Given the description of an element on the screen output the (x, y) to click on. 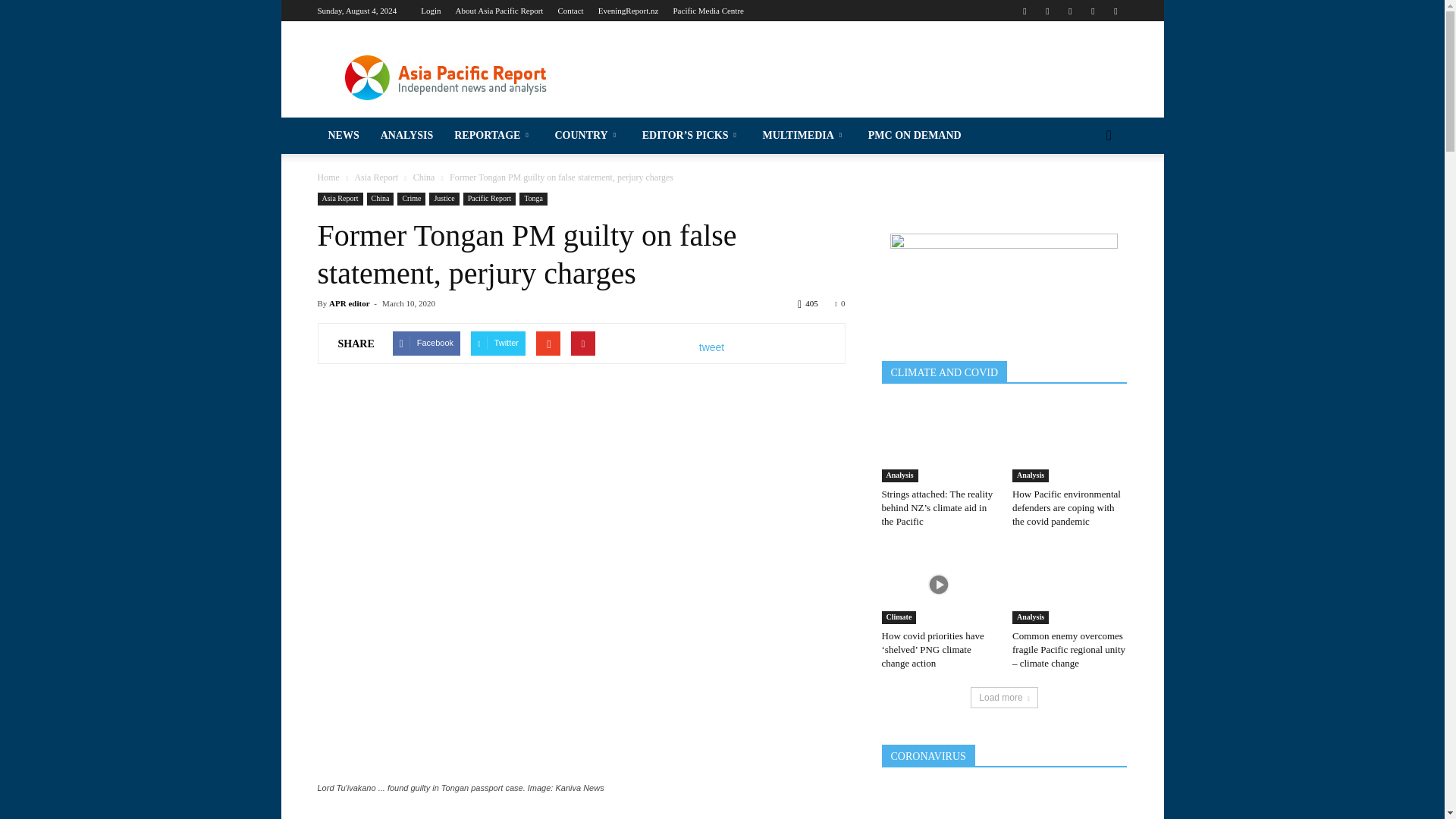
APJS newsfile (140, 215)
Climate (140, 244)
Australia (140, 335)
CLOSE (140, 20)
NEWS (140, 57)
Pacific Report (140, 157)
Federated States of Micronesia (140, 393)
Nauru (140, 508)
Niue (140, 594)
New Zealand (140, 566)
Facebook (1024, 10)
Tahiti (140, 767)
Asia Pacific Report (445, 76)
Asia Report (140, 185)
New Caledonia (140, 537)
